Given the description of an element on the screen output the (x, y) to click on. 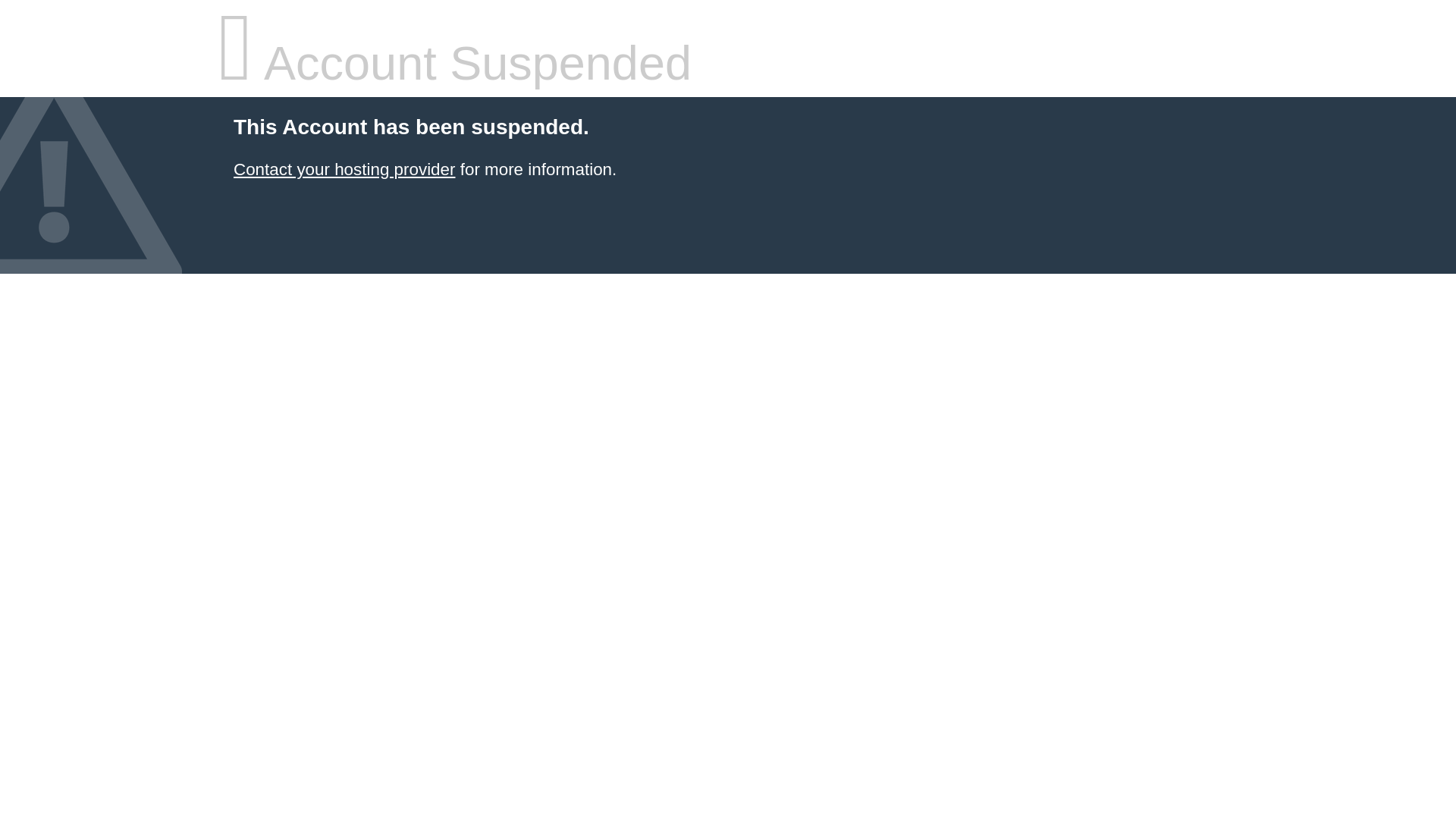
Contact your hosting provider Element type: text (344, 169)
